Given the description of an element on the screen output the (x, y) to click on. 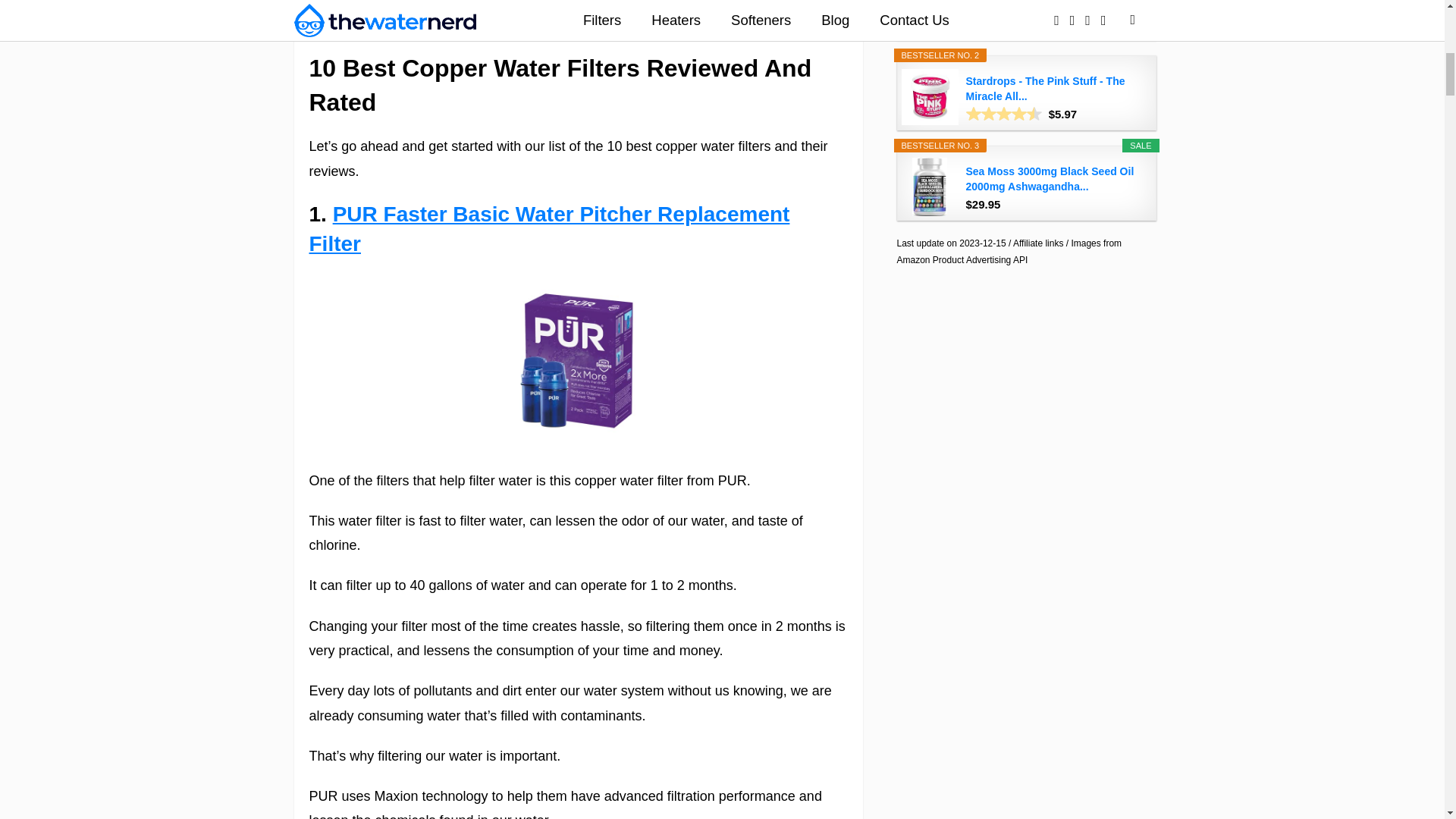
PUR Faster Basic Water Pitcher Replacement Filter (549, 228)
PUR Faster Basic Water Pitcher Replacement Filter (549, 228)
